Given the description of an element on the screen output the (x, y) to click on. 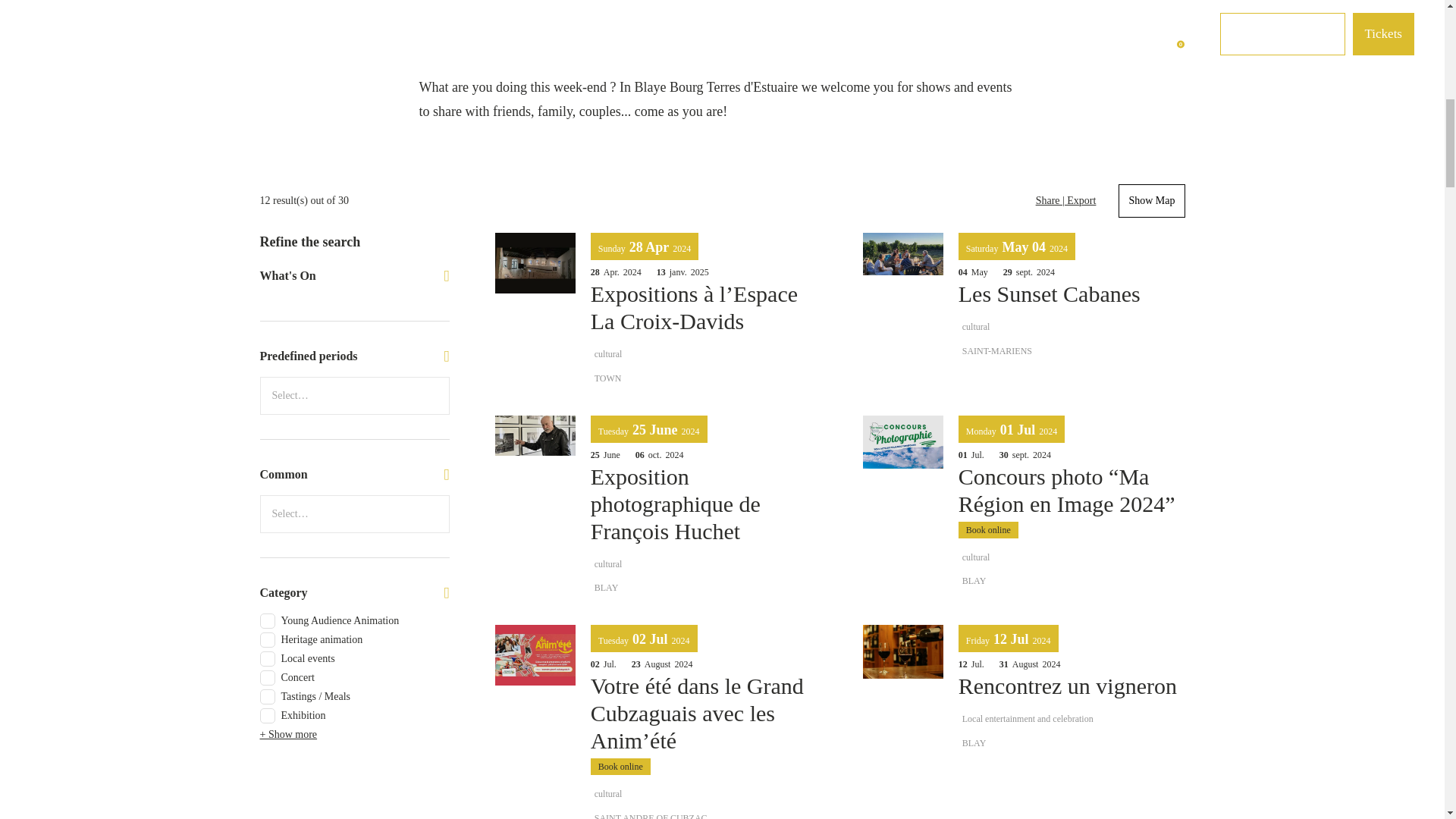
Animation Jeune Public (267, 620)
Animation patrimoine (267, 639)
Animations locales (267, 658)
Concert (267, 677)
Exposition (267, 715)
